Given the description of an element on the screen output the (x, y) to click on. 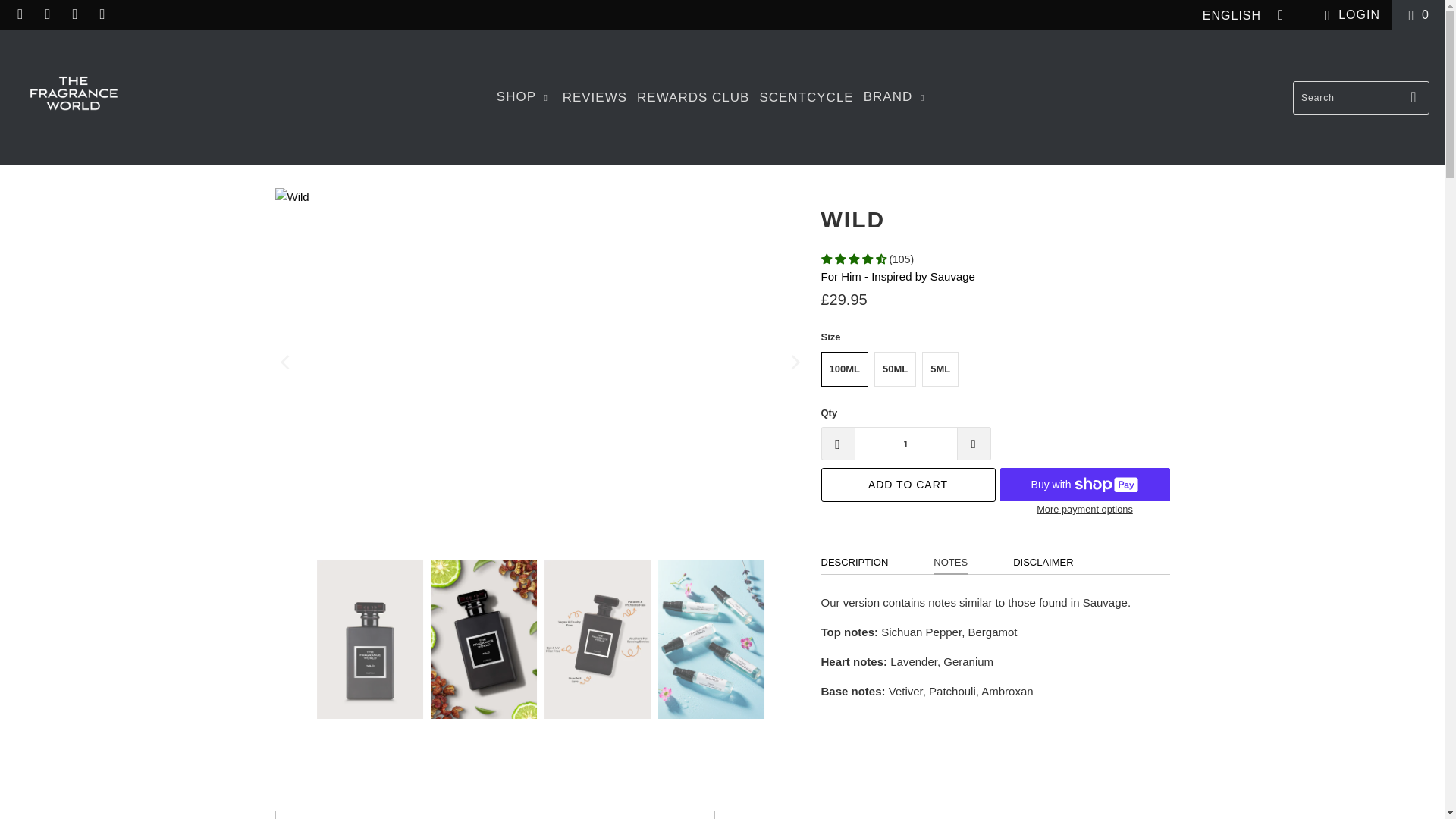
1 (904, 443)
The Fragrance World on Facebook (19, 14)
The Fragrance World (73, 97)
My Account  (1348, 14)
Email The Fragrance World (101, 14)
The Fragrance World on LinkedIn (73, 14)
The Fragrance World on Instagram (47, 14)
